Given the description of an element on the screen output the (x, y) to click on. 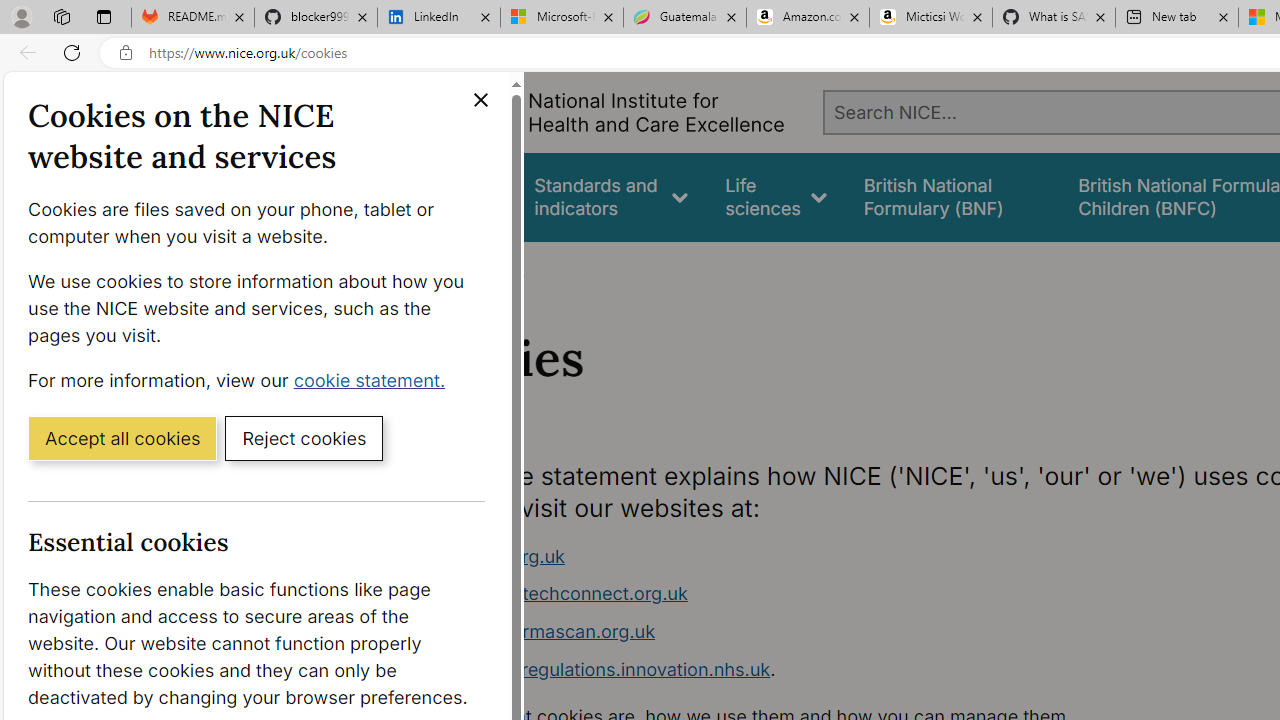
www.digitalregulations.innovation.nhs.uk (595, 668)
www.digitalregulations.innovation.nhs.uk. (796, 669)
Close cookie banner (480, 99)
Guidance (458, 196)
www.nice.org.uk (492, 556)
